Given the description of an element on the screen output the (x, y) to click on. 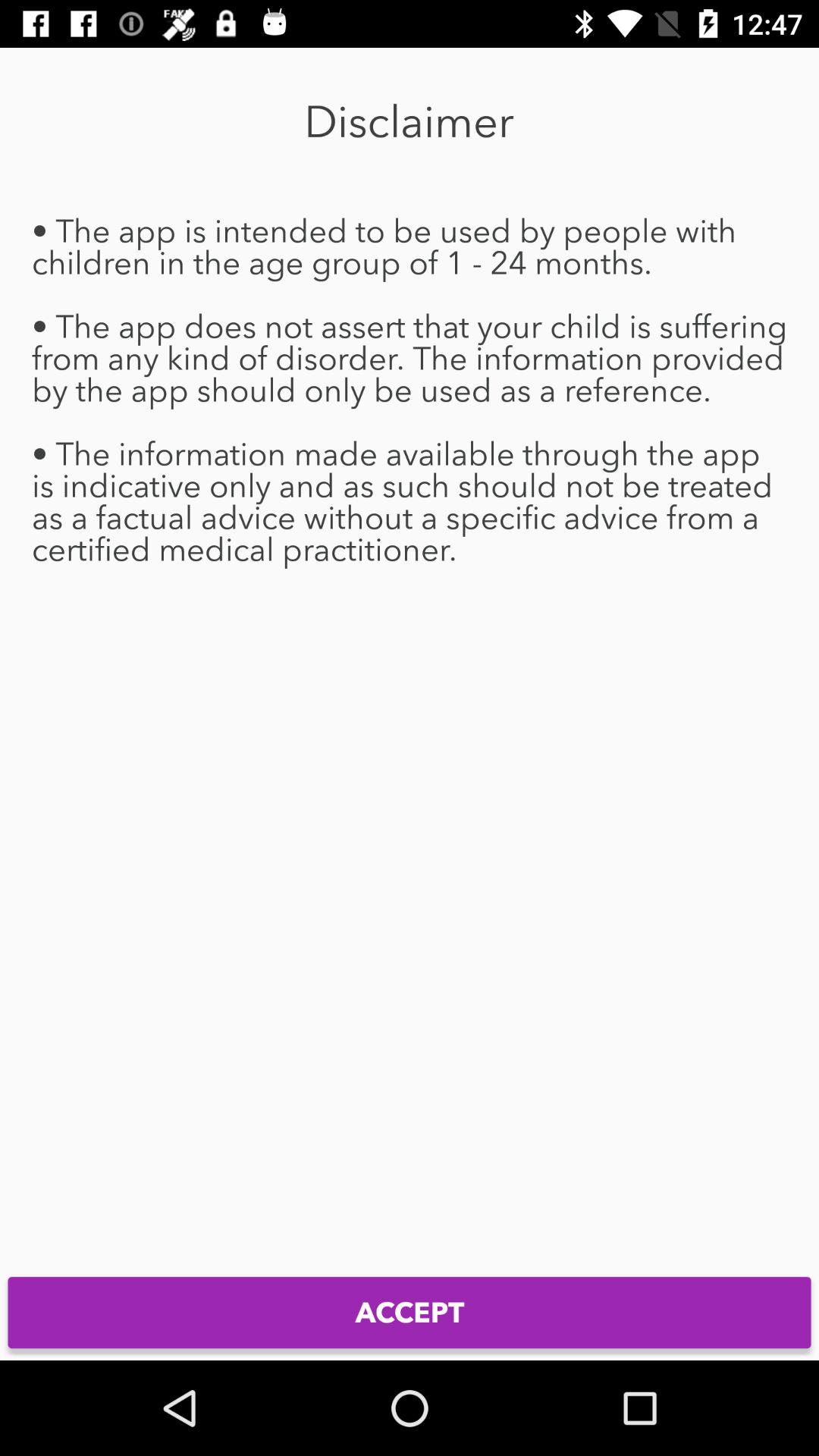
flip to accept item (409, 1312)
